Given the description of an element on the screen output the (x, y) to click on. 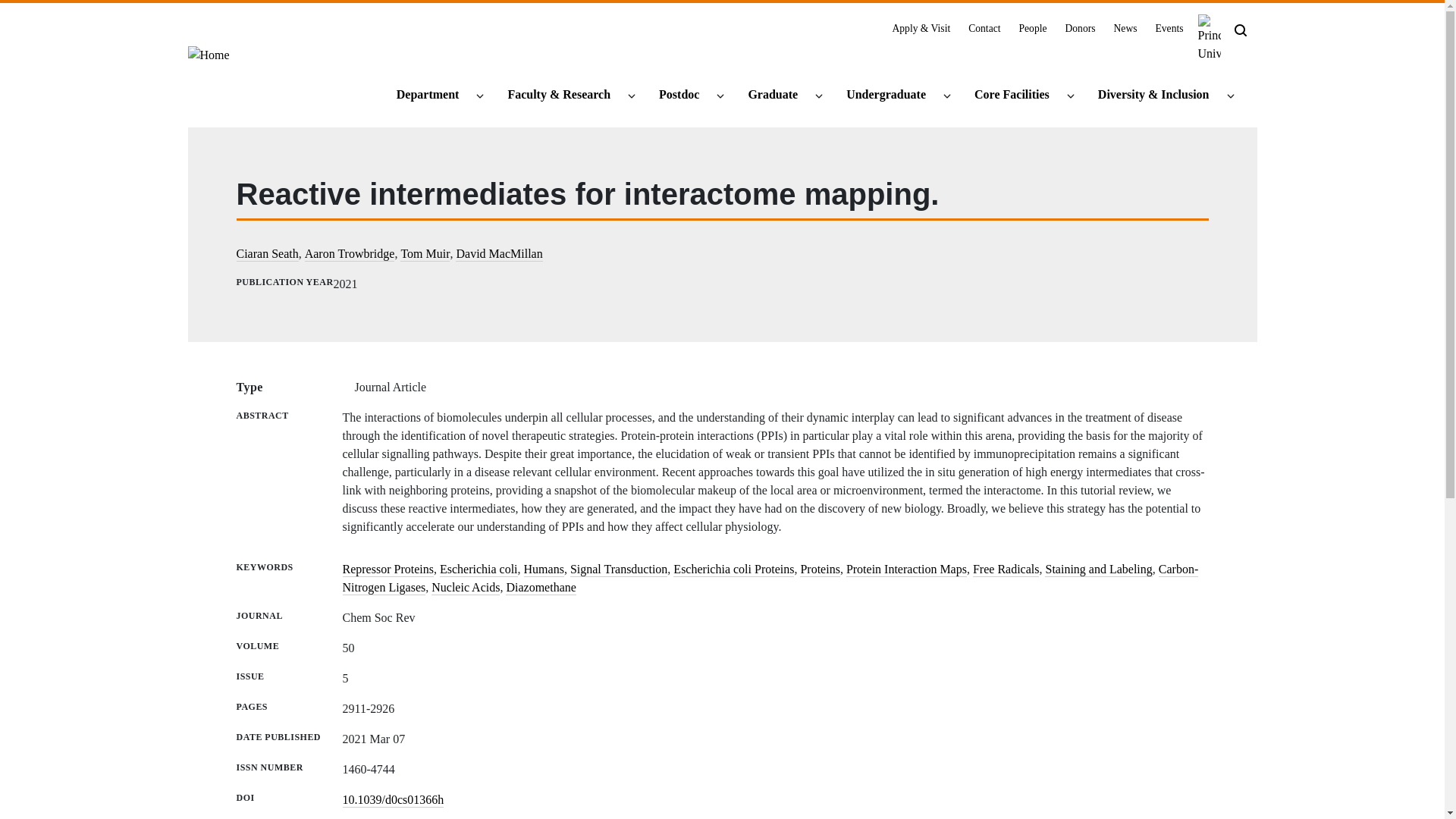
Home (208, 60)
Department (434, 95)
Graduate (778, 95)
Postdoc (685, 95)
